Given the description of an element on the screen output the (x, y) to click on. 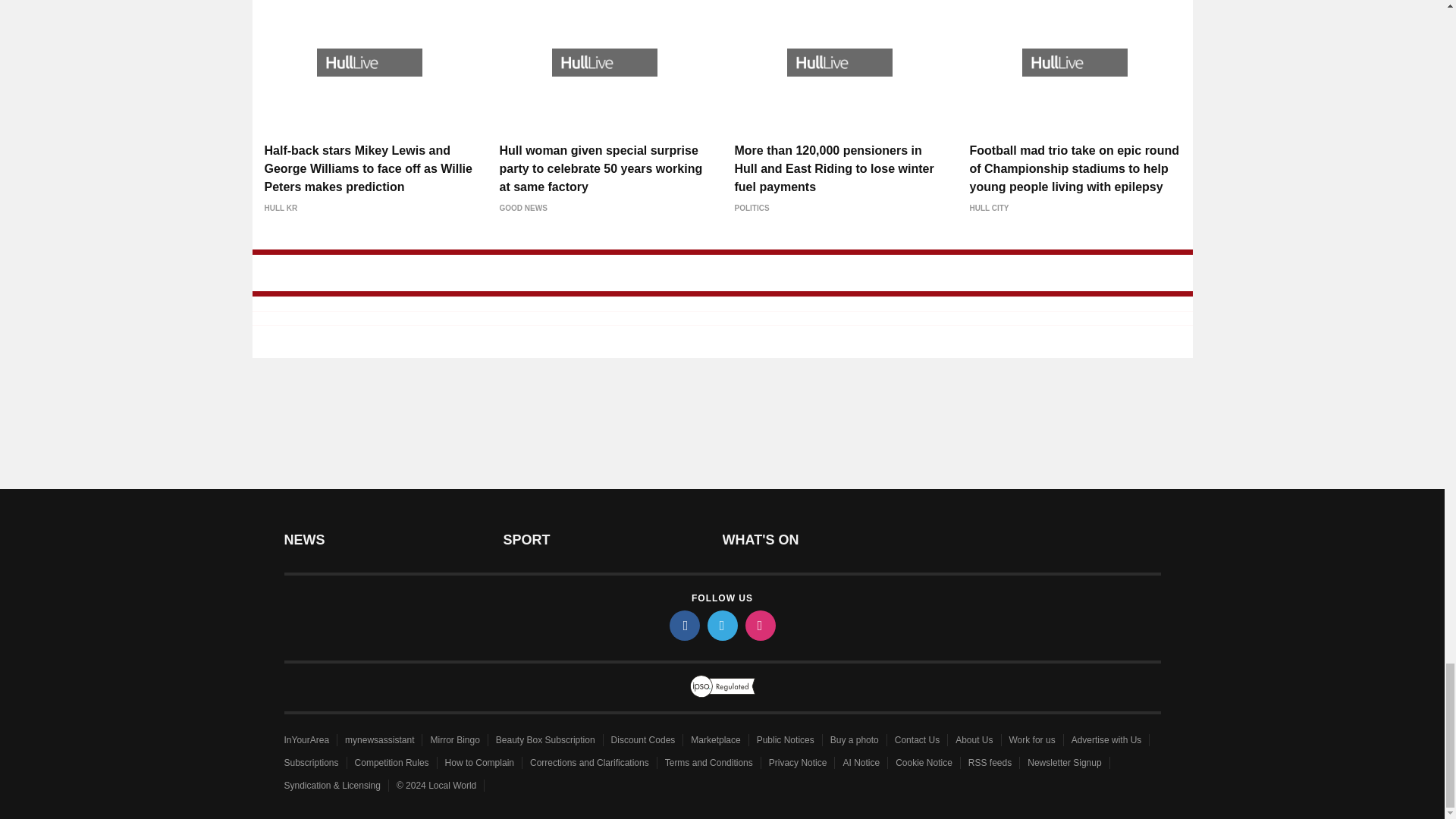
instagram (759, 625)
twitter (721, 625)
facebook (683, 625)
